Given the description of an element on the screen output the (x, y) to click on. 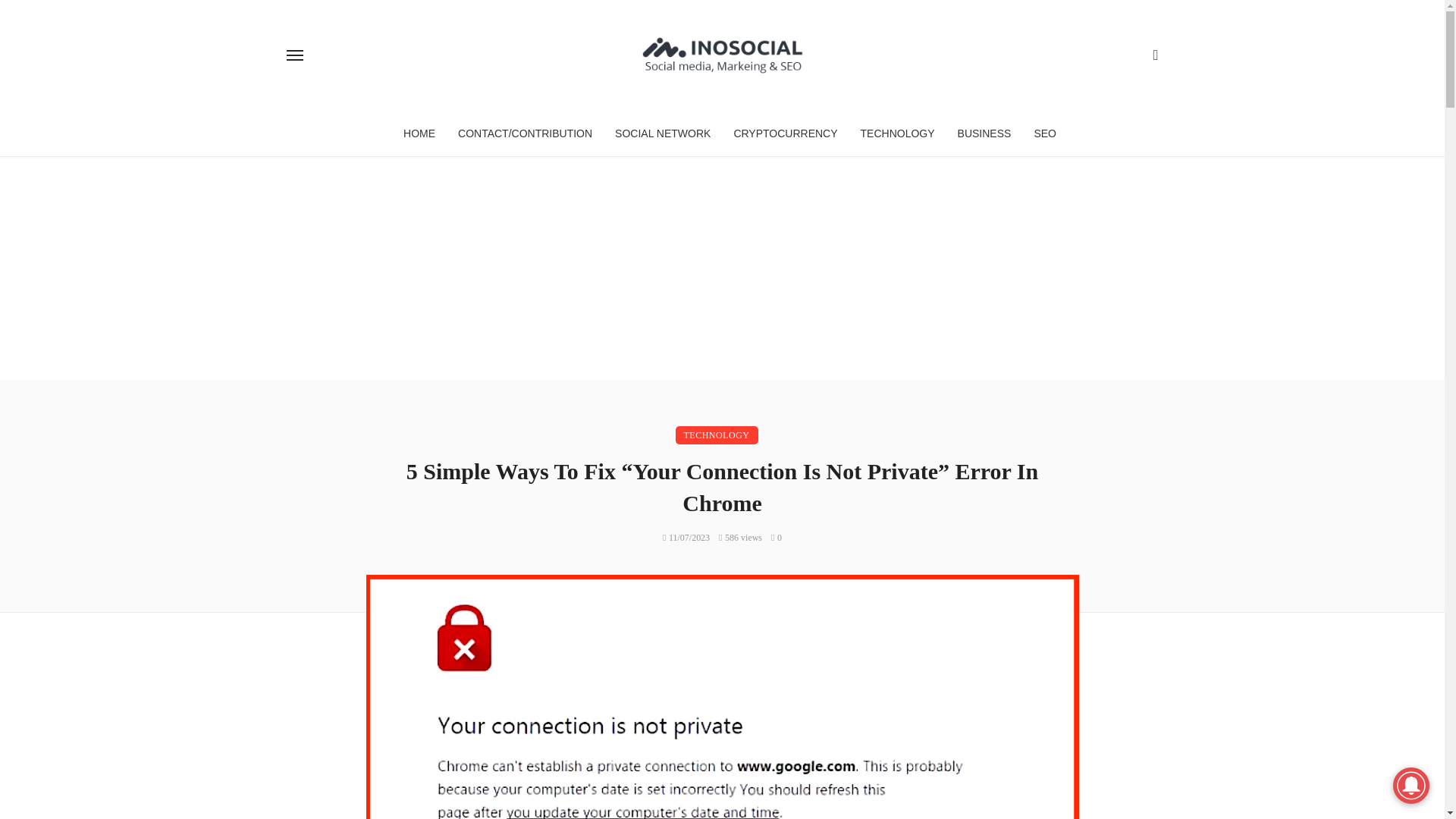
SEO (1044, 133)
0 Comments (776, 537)
TECHNOLOGY (897, 133)
CRYPTOCURRENCY (785, 133)
0 (776, 537)
November 7, 2023 at 9:06 am (686, 537)
BUSINESS (984, 133)
TECHNOLOGY (716, 434)
HOME (418, 133)
SOCIAL NETWORK (663, 133)
